Given the description of an element on the screen output the (x, y) to click on. 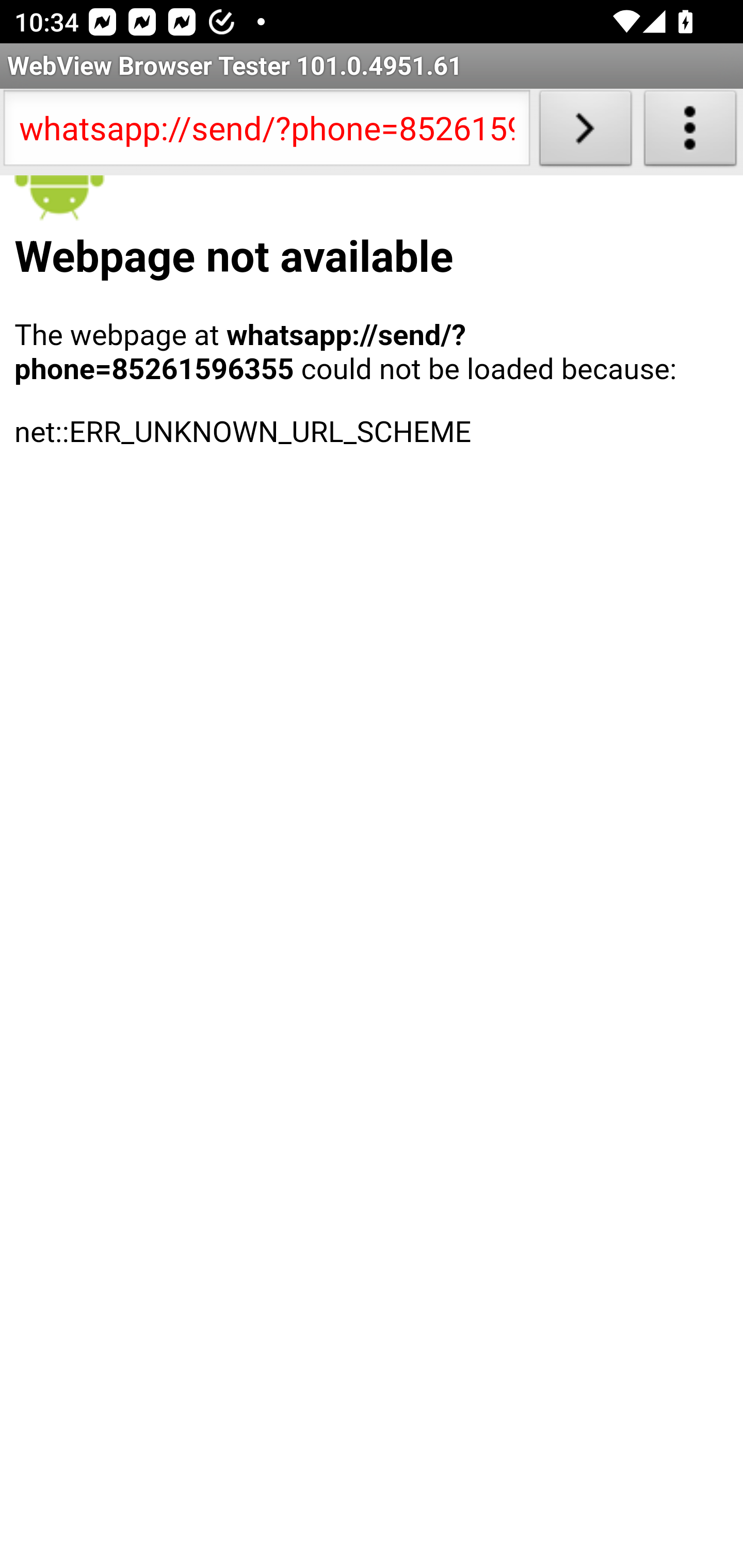
whatsapp://send/?phone=85261596355 (266, 132)
Load URL (585, 132)
About WebView (690, 132)
